Given the description of an element on the screen output the (x, y) to click on. 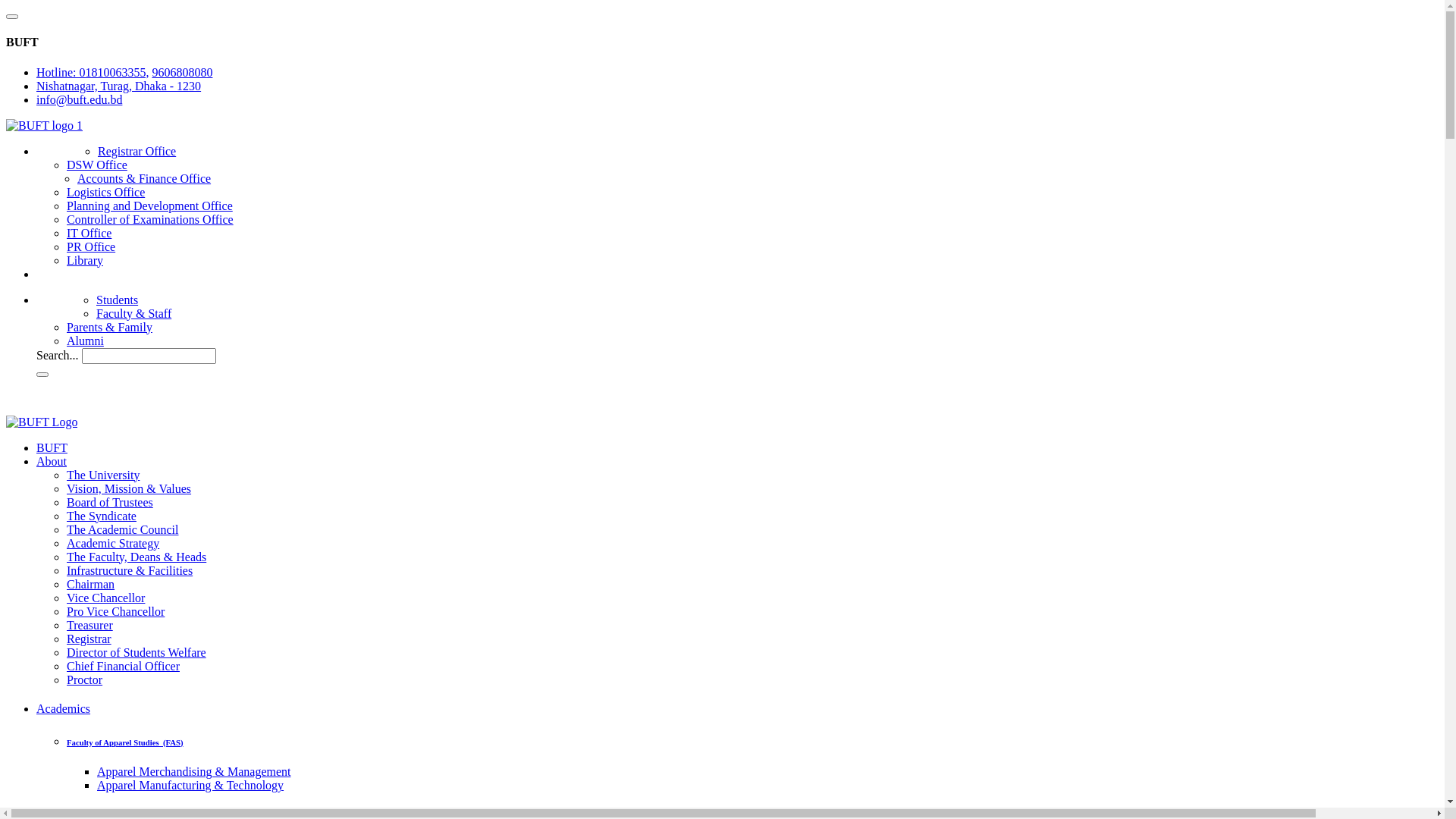
DSW Office Element type: text (96, 164)
Faculty & Staff Element type: text (133, 313)
info@buft.edu.bd Element type: text (79, 99)
The Syndicate Element type: text (101, 515)
Proctor Element type: text (84, 679)
Infrastructure & Facilities Element type: text (129, 570)
Faculty of Apparel Studies  (FAS) Element type: text (124, 741)
  Login Element type: text (23, 395)
Hotline: 01810063355, Element type: text (92, 71)
Registrar Office Element type: text (136, 150)
The Faculty, Deans & Heads Element type: text (136, 556)
Apparel Manufacturing & Technology Element type: text (190, 784)
Treasurer Element type: text (89, 624)
Accounts & Finance Office Element type: text (143, 178)
Controller of Examinations Office Element type: text (149, 219)
Alumni Element type: text (84, 340)
Students Element type: text (117, 299)
The Academic Council Element type: text (122, 529)
Director of Students Welfare Element type: text (136, 652)
Nishatnagar, Turag, Dhaka - 1230 Element type: text (118, 85)
Academics Element type: text (63, 708)
Key Audiences   Element type: text (66, 302)
Chairman Element type: text (90, 583)
Chief Financial Officer Element type: text (122, 665)
Central Facility   Element type: text (66, 150)
Apparel Merchandising & Management Element type: text (193, 771)
IT Office Element type: text (88, 232)
Registrar Element type: text (88, 638)
Logistics Office Element type: text (105, 191)
BUFT Element type: text (51, 447)
Vice Chancellor Element type: text (105, 597)
Planning and Development Office Element type: text (149, 205)
Board of Trustees Element type: text (109, 501)
PR Office Element type: text (90, 246)
9606808080 Element type: text (181, 71)
Library Element type: text (84, 260)
Parents & Family Element type: text (109, 326)
Academic Strategy Element type: text (112, 542)
The University Element type: text (102, 474)
About Element type: text (51, 461)
Pro Vice Chancellor Element type: text (115, 611)
Vision, Mission & Values Element type: text (128, 488)
